Given the description of an element on the screen output the (x, y) to click on. 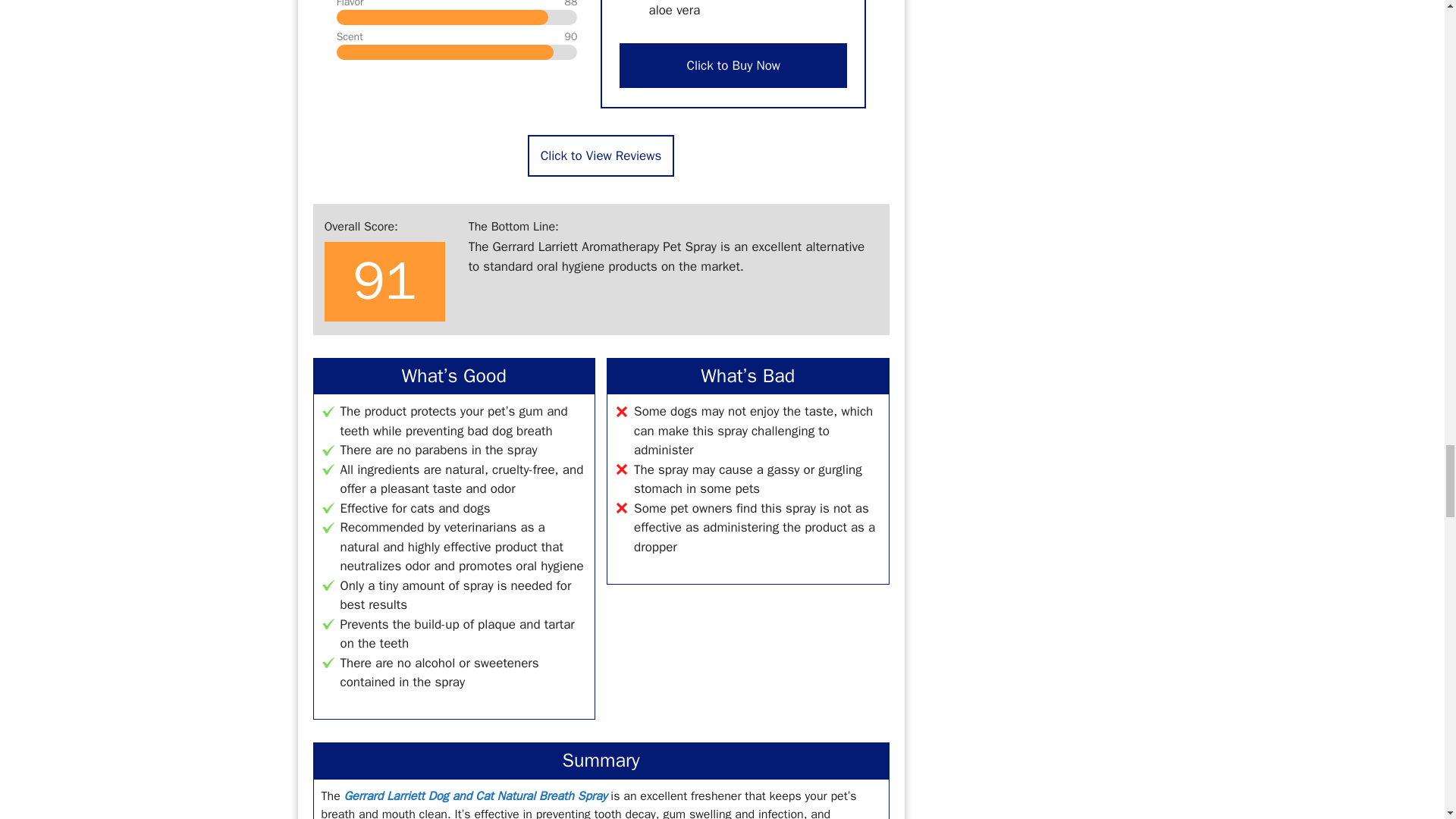
Click to Buy Now (733, 65)
Gerrard Larriett Dog and Cat Natural Breath Spray (475, 795)
Click to View Reviews (601, 155)
